Given the description of an element on the screen output the (x, y) to click on. 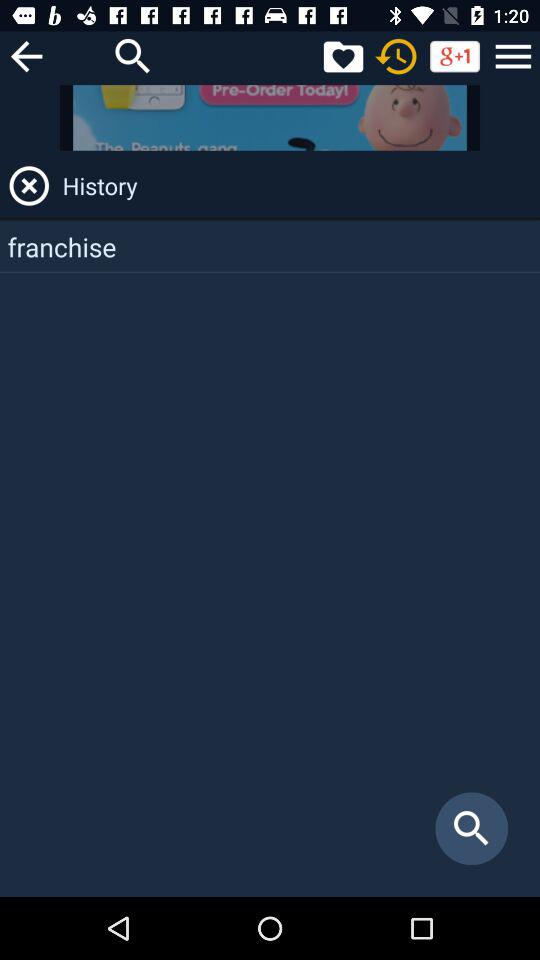
tap item below franchise icon (471, 828)
